Given the description of an element on the screen output the (x, y) to click on. 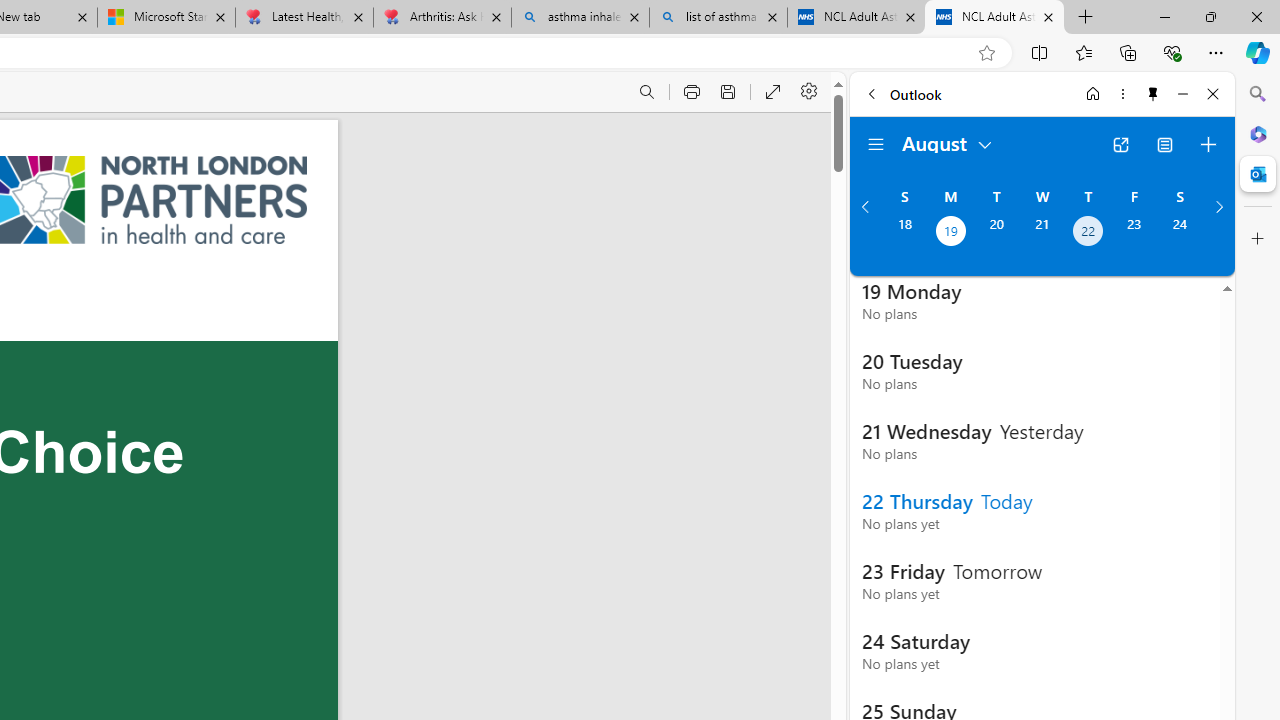
Saturday, August 24, 2024.  (1180, 233)
Wednesday, August 21, 2024.  (1042, 233)
Monday, August 19, 2024. Date selected.  (950, 233)
Thursday, August 22, 2024. Today.  (1088, 233)
